Given the description of an element on the screen output the (x, y) to click on. 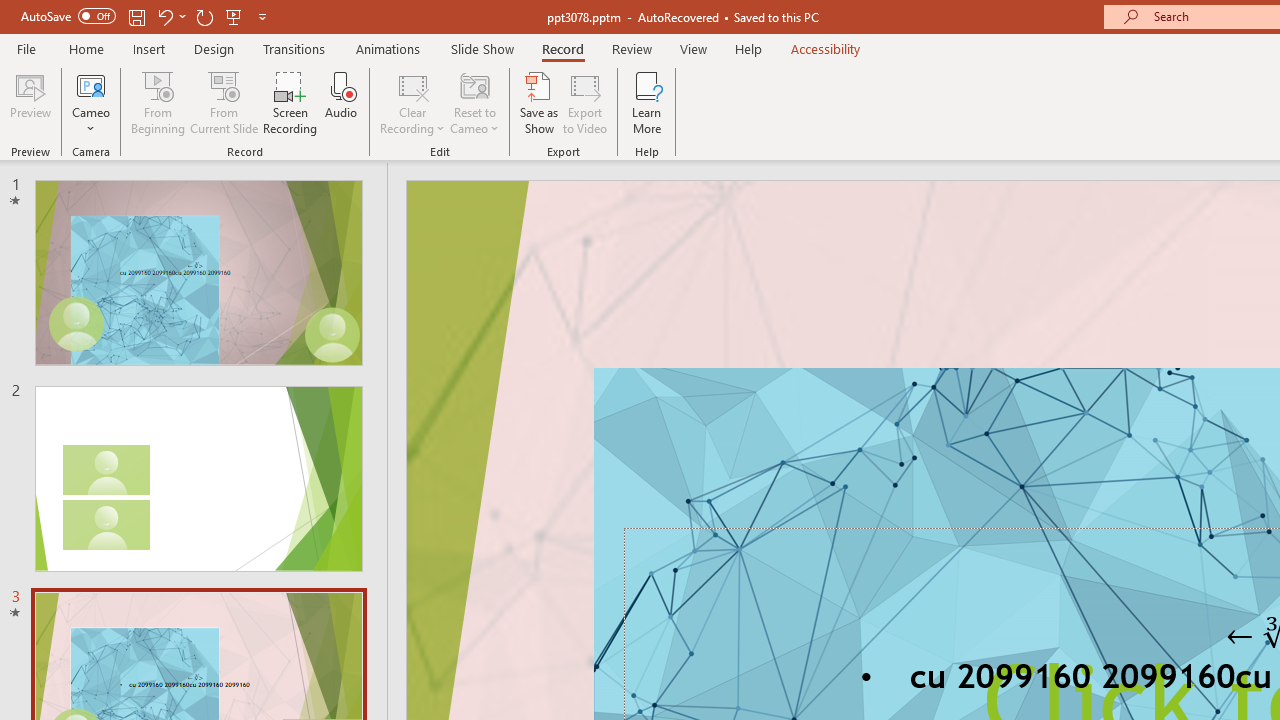
Clear Recording (412, 102)
Save as Show (539, 102)
